Given the description of an element on the screen output the (x, y) to click on. 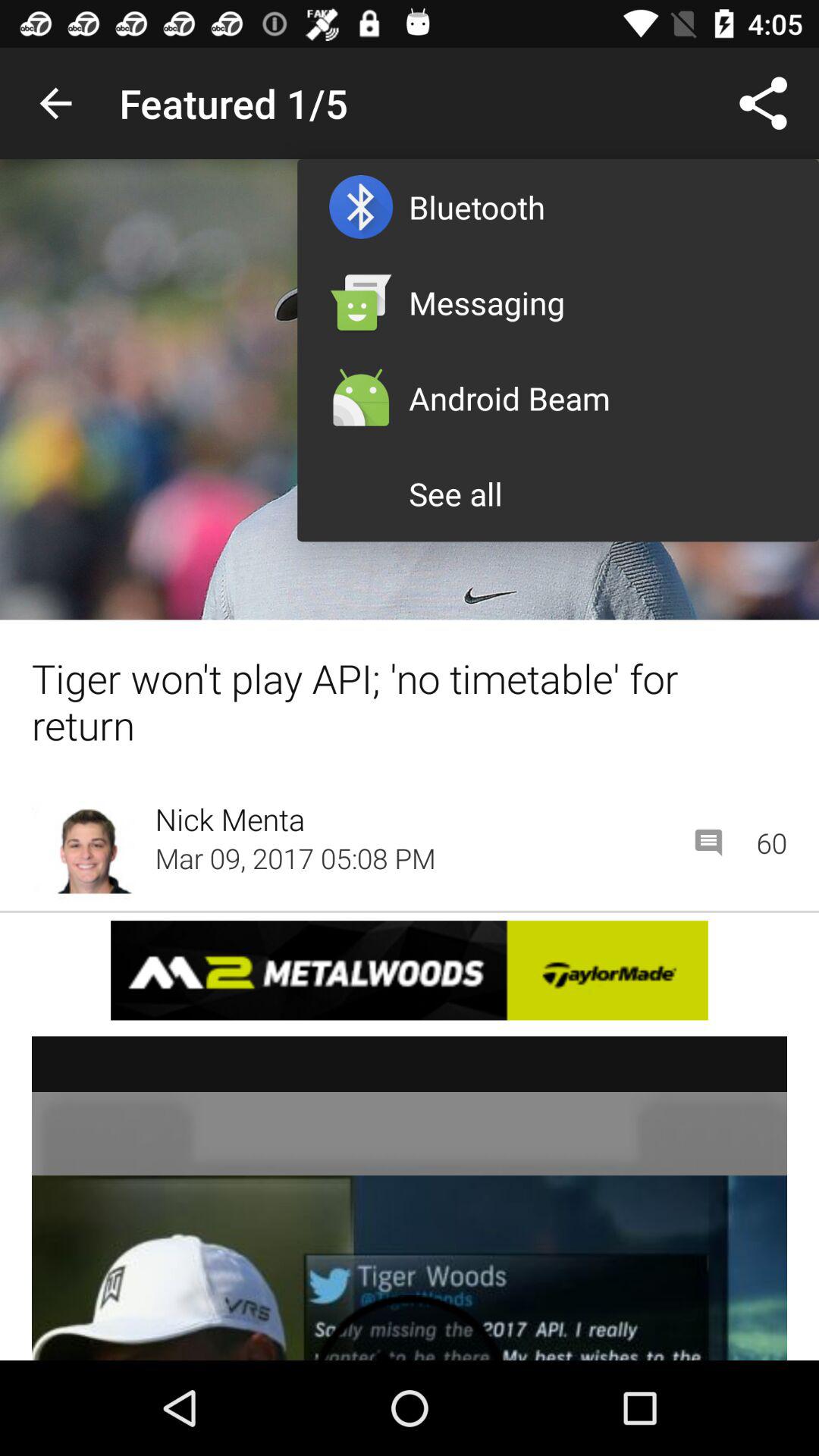
this is a video (409, 1198)
